Given the description of an element on the screen output the (x, y) to click on. 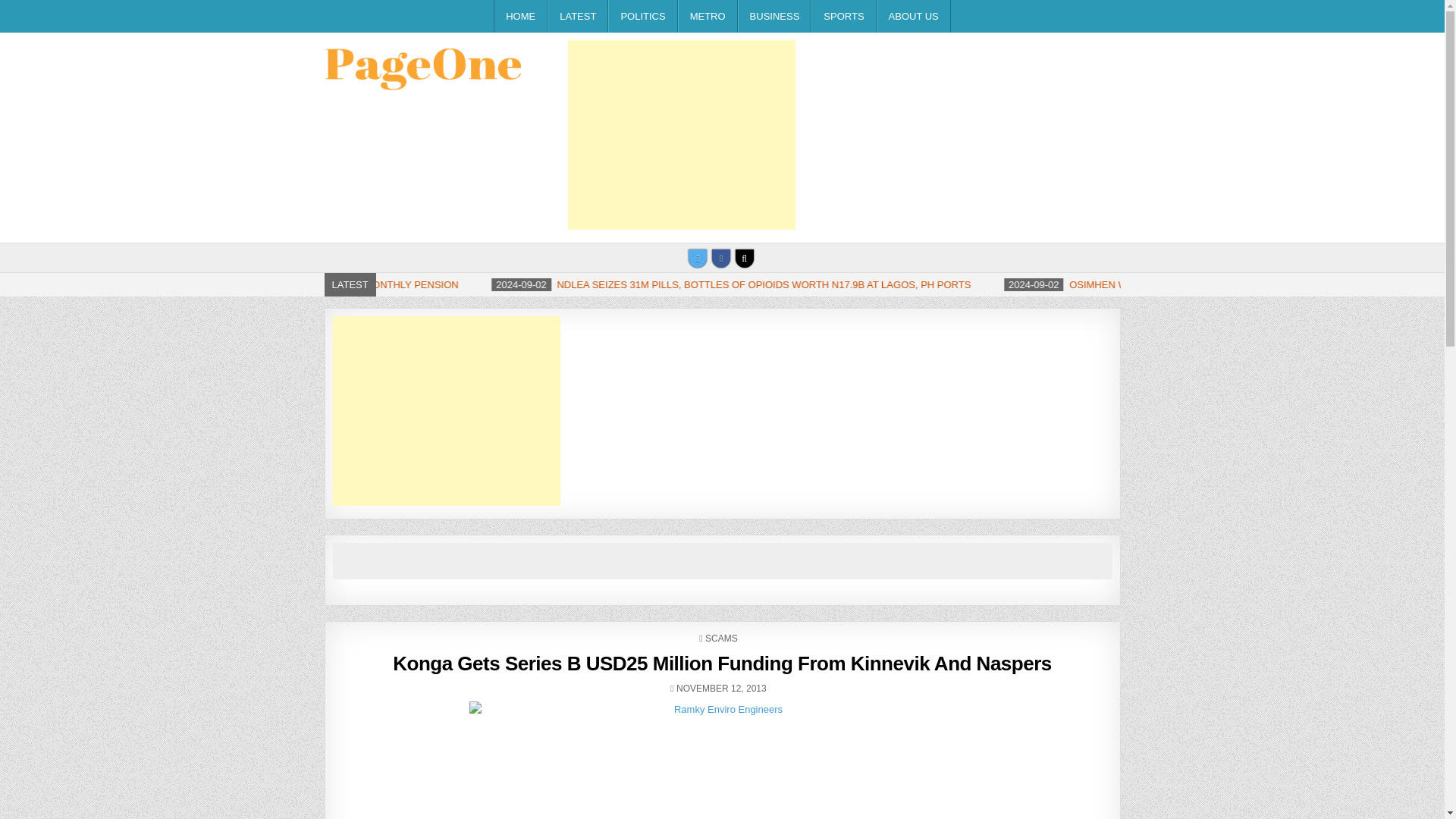
2024-09-02 NUP SAYS RETIREES RECEIVE N500 MONTHLY PENSION (518, 284)
Facebook (720, 258)
SCAMS (721, 638)
Advertisement (680, 135)
POLITICS (642, 16)
BUSINESS (775, 16)
